Given the description of an element on the screen output the (x, y) to click on. 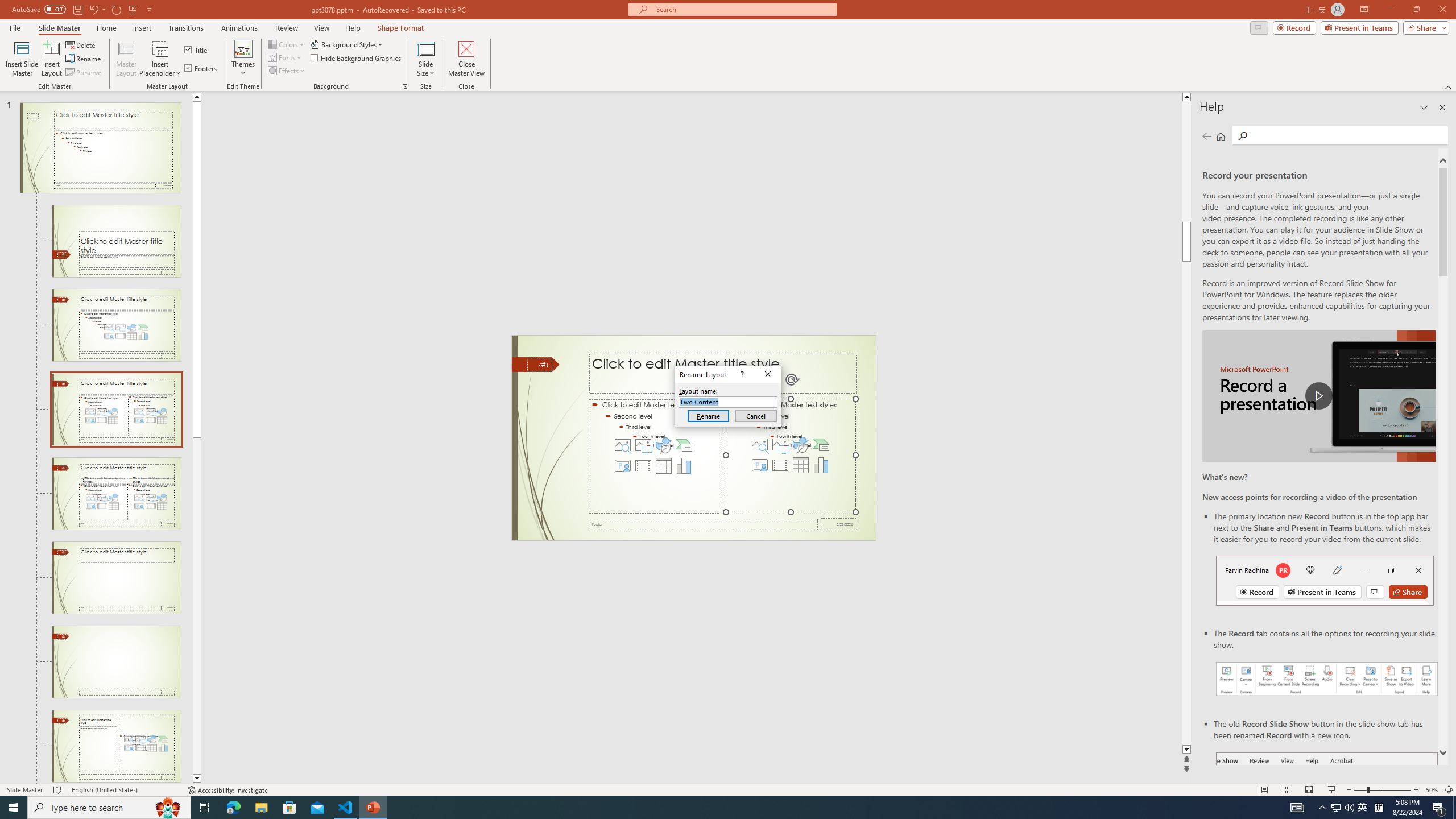
Master Layout... (126, 58)
Background Styles (347, 44)
Insert Layout (51, 58)
Microsoft Edge (233, 807)
Slide Title Slide Layout: used by slide(s) 1 (116, 240)
